Given the description of an element on the screen output the (x, y) to click on. 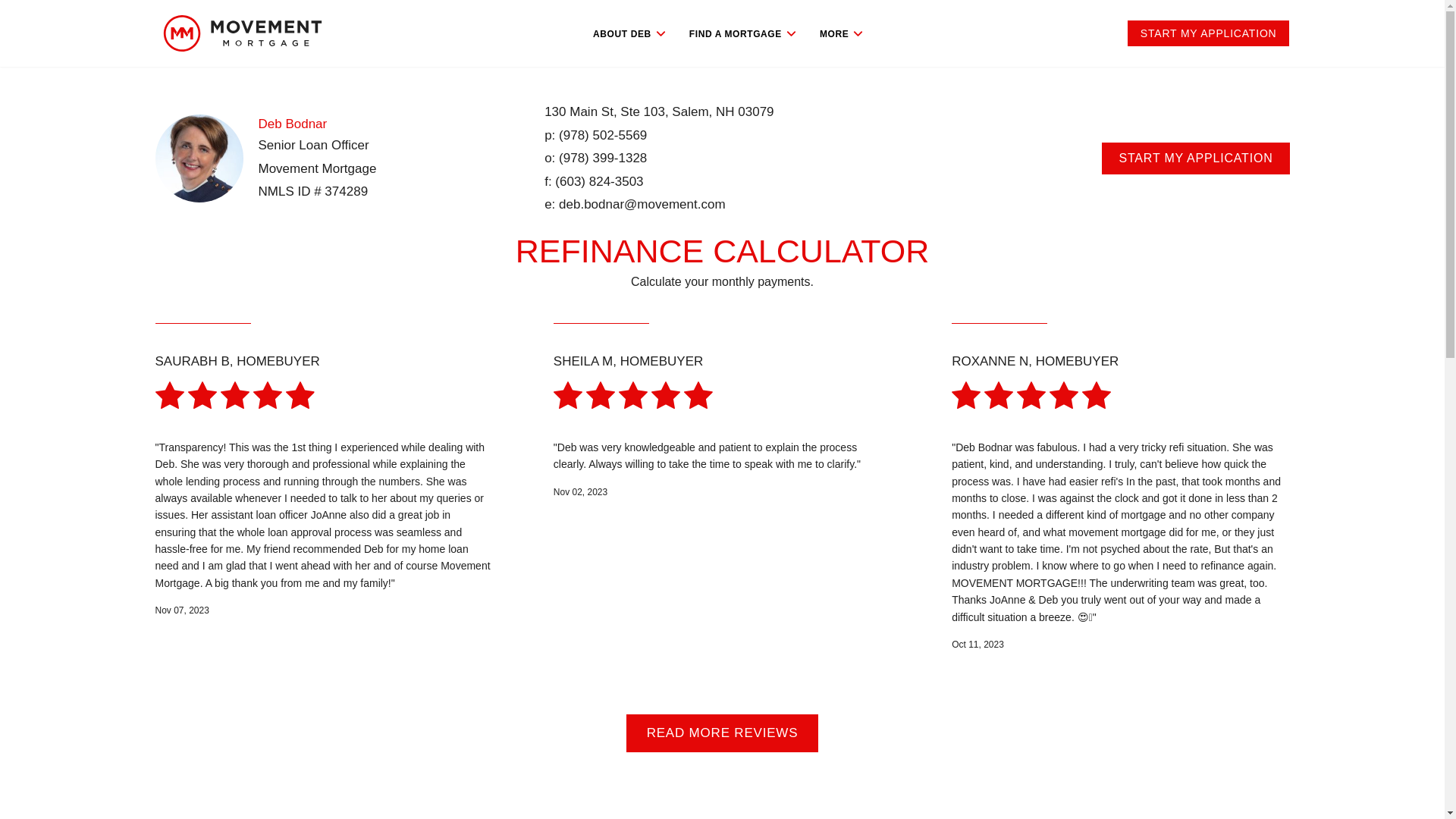
FIND A MORTGAGE (742, 33)
Movement Mortgage Logo (241, 32)
ABOUT DEB (630, 33)
MORE (841, 33)
